Given the description of an element on the screen output the (x, y) to click on. 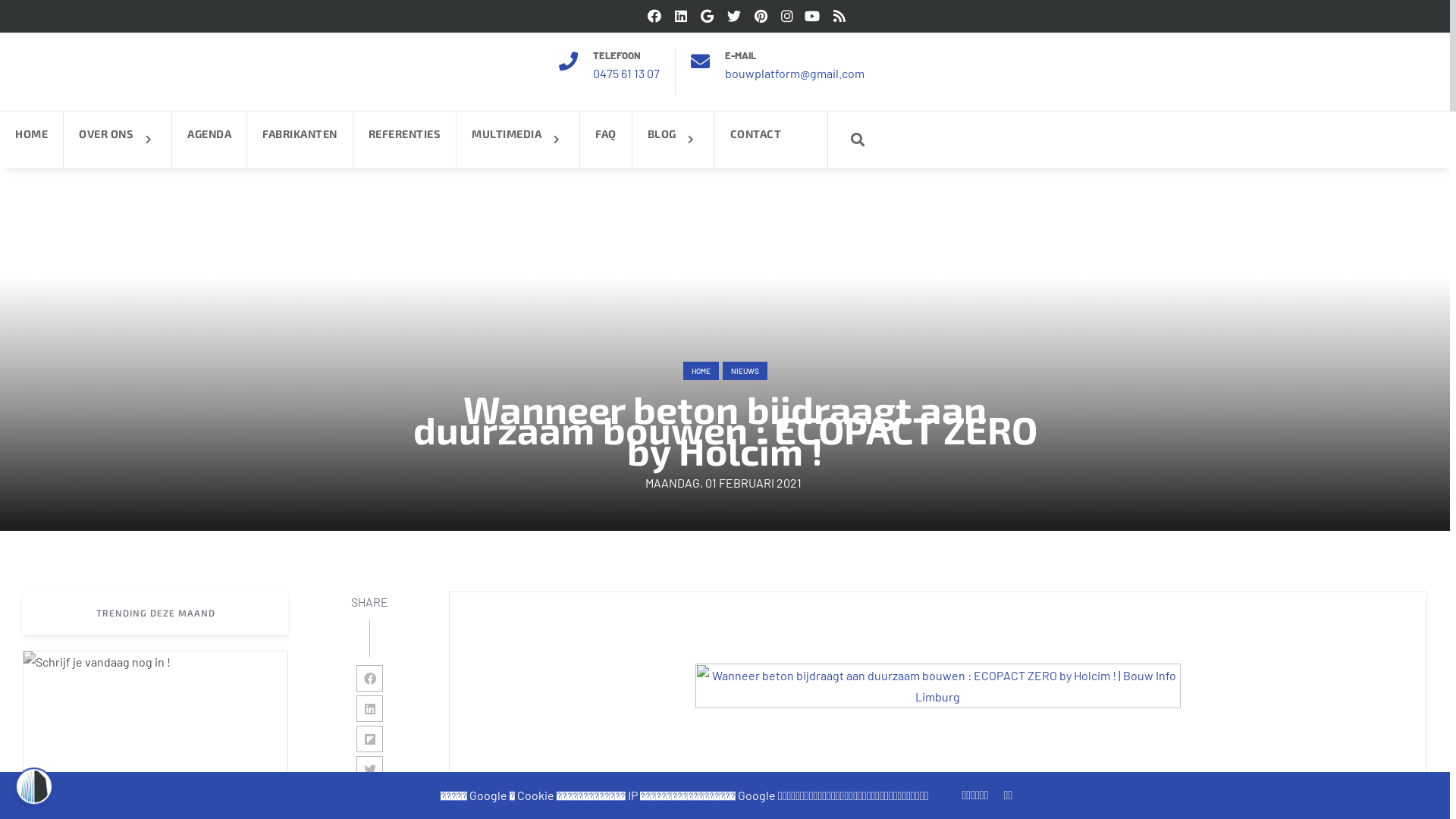
FAQ Element type: text (605, 139)
BLOG Element type: text (673, 139)
MULTIMEDIA Element type: text (517, 139)
0475 61 13 07 Element type: text (626, 72)
OVER ONS Element type: text (117, 139)
HOME Element type: text (31, 139)
HOME Element type: text (700, 370)
FABRIKANTEN Element type: text (299, 139)
REFERENTIES Element type: text (404, 139)
CONTACT Element type: text (755, 139)
AGENDA Element type: text (209, 139)
bouwplatform@gmail.com Element type: text (794, 72)
NIEUWS Element type: text (743, 370)
